Given the description of an element on the screen output the (x, y) to click on. 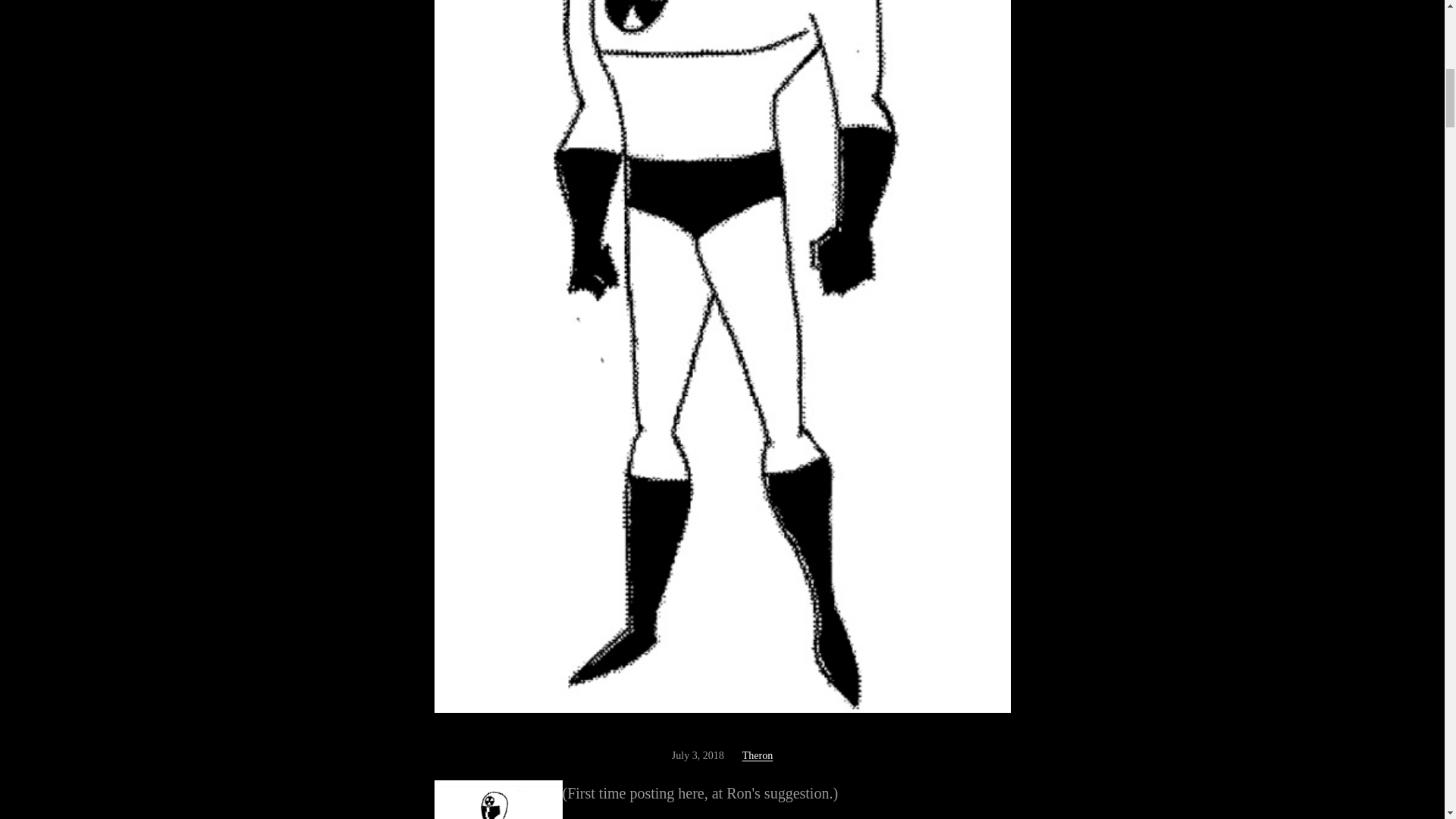
July 3, 2018 (697, 755)
Theron (757, 755)
